Given the description of an element on the screen output the (x, y) to click on. 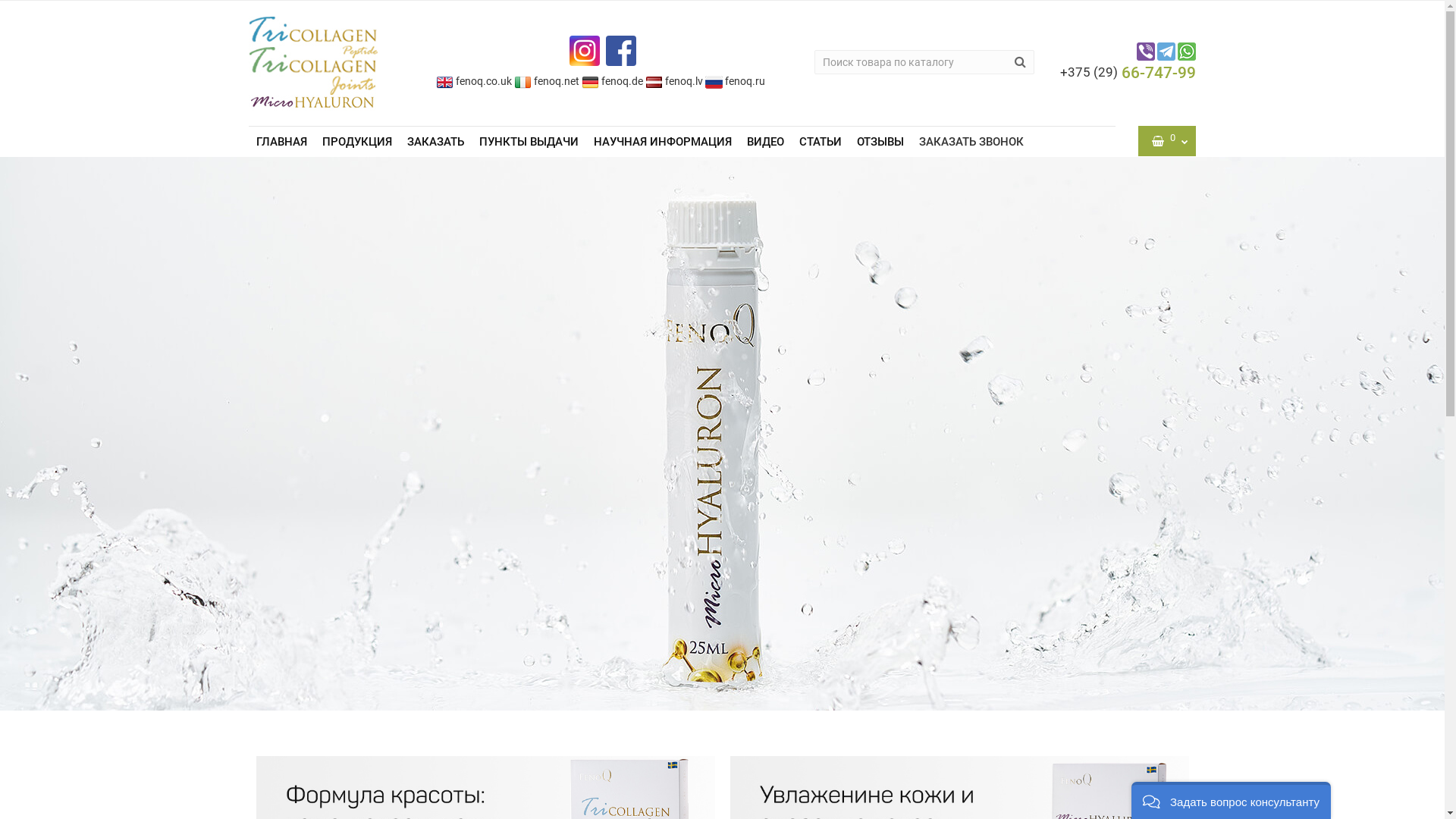
fenoq.co.uk Element type: text (473, 81)
fenoq.lv Element type: text (673, 81)
0 Element type: text (1167, 140)
fenoq.de Element type: text (612, 81)
fenoq.ru Element type: text (735, 81)
Tricollagen.by Element type: hover (312, 62)
fenoq.net Element type: text (546, 81)
+375 (29) 66-747-99 Element type: text (1127, 72)
